Given the description of an element on the screen output the (x, y) to click on. 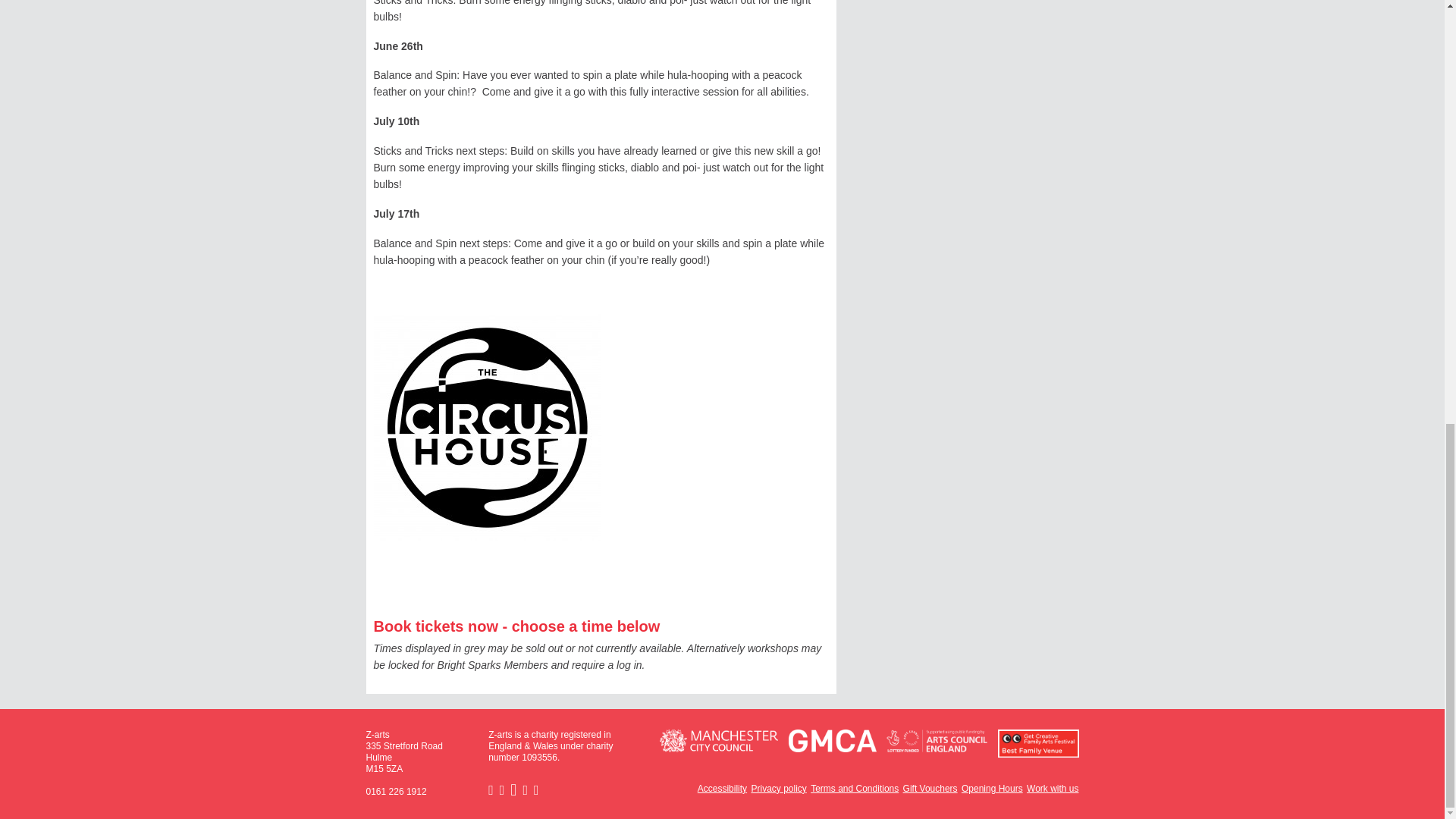
0161 226 1912 (395, 791)
1093556 (539, 757)
